Given the description of an element on the screen output the (x, y) to click on. 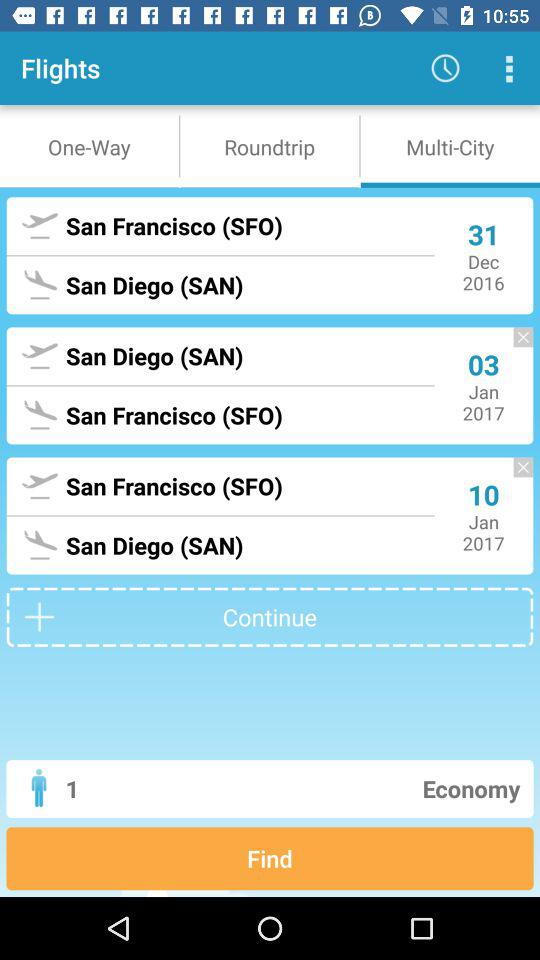
select economy item (346, 788)
